Given the description of an element on the screen output the (x, y) to click on. 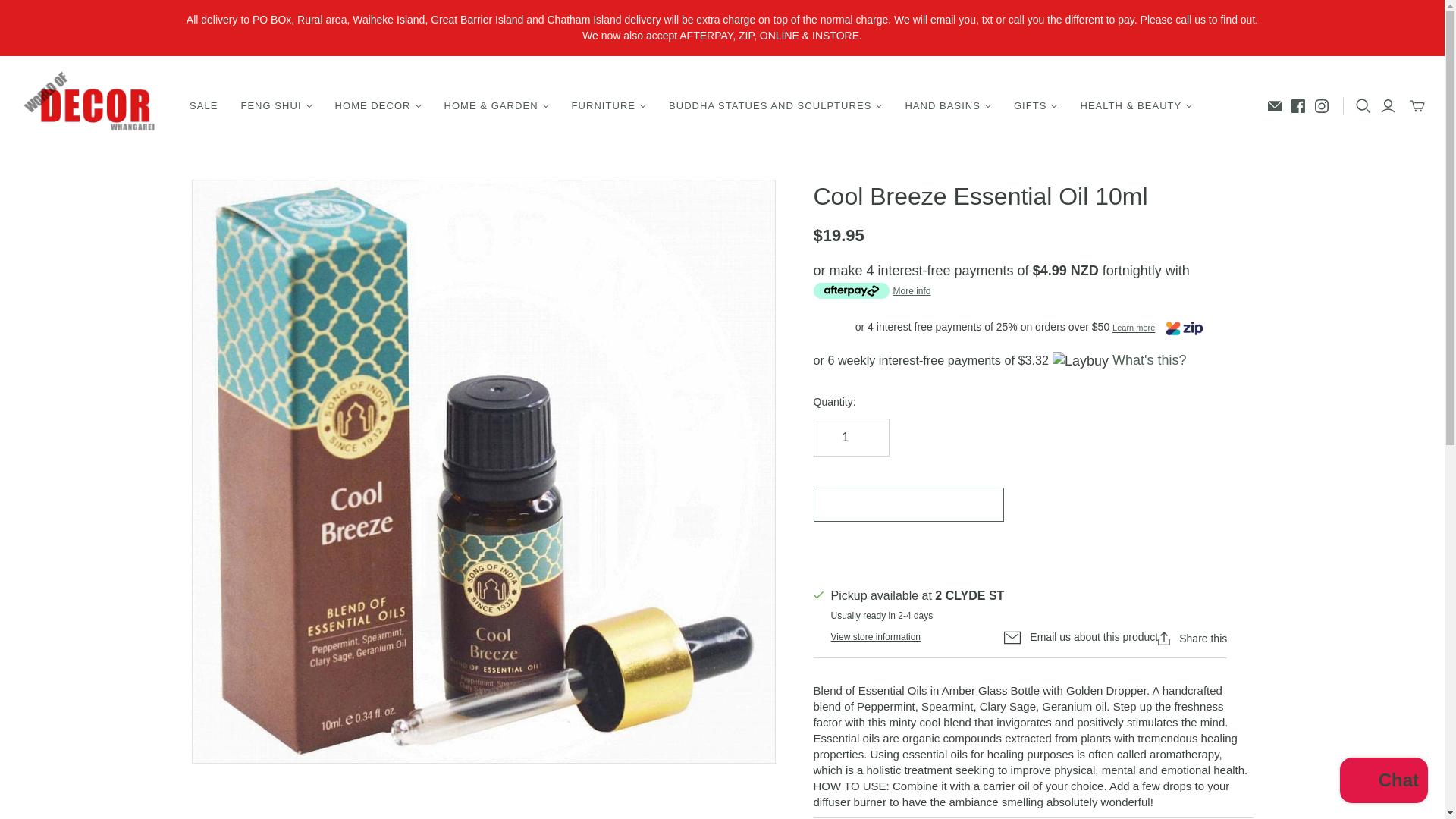
SALE (202, 105)
Shopify online store chat (1383, 781)
1 (850, 437)
